Given the description of an element on the screen output the (x, y) to click on. 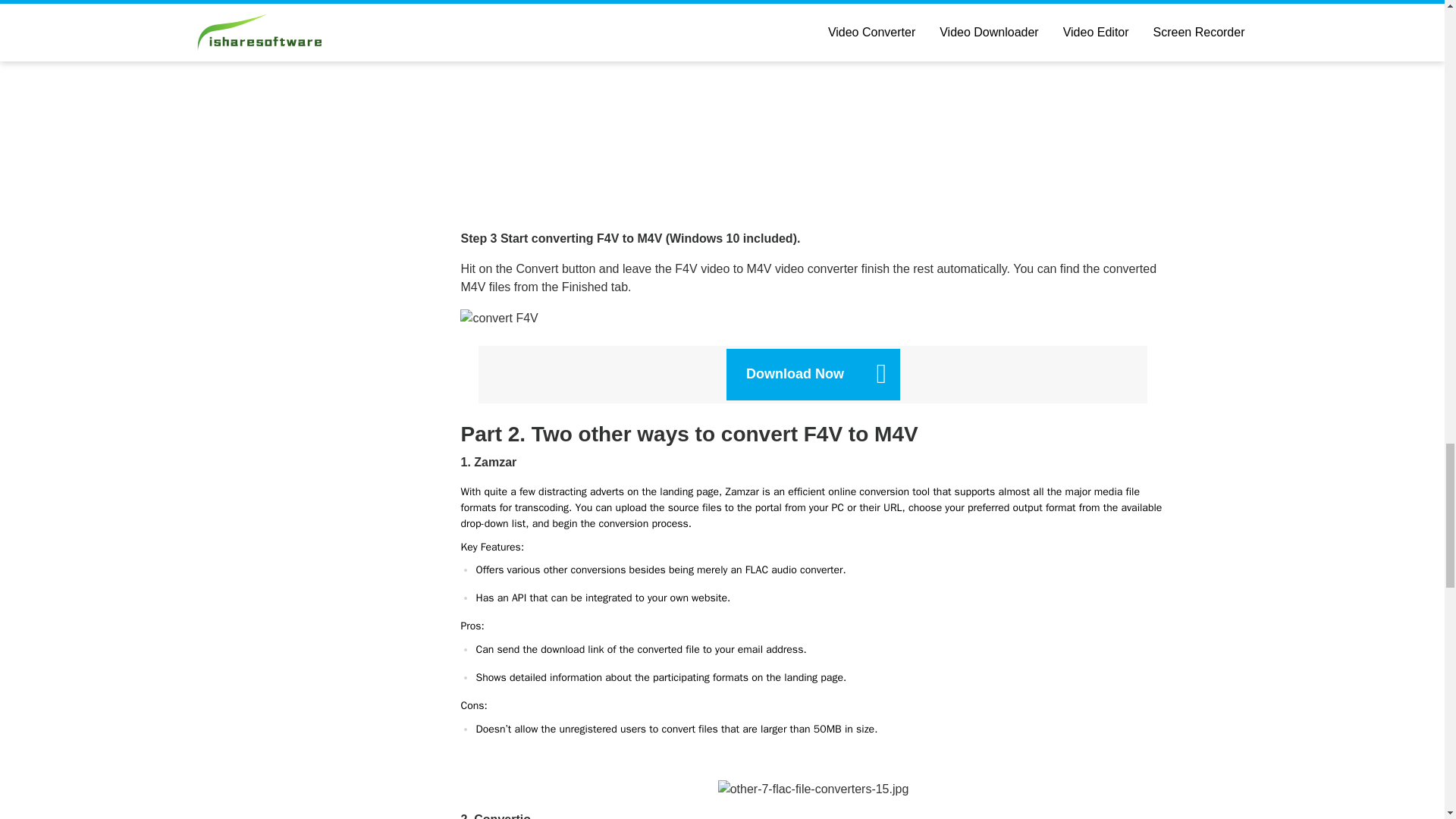
1612755463796459.jpg (812, 789)
Download Now (812, 374)
